Given the description of an element on the screen output the (x, y) to click on. 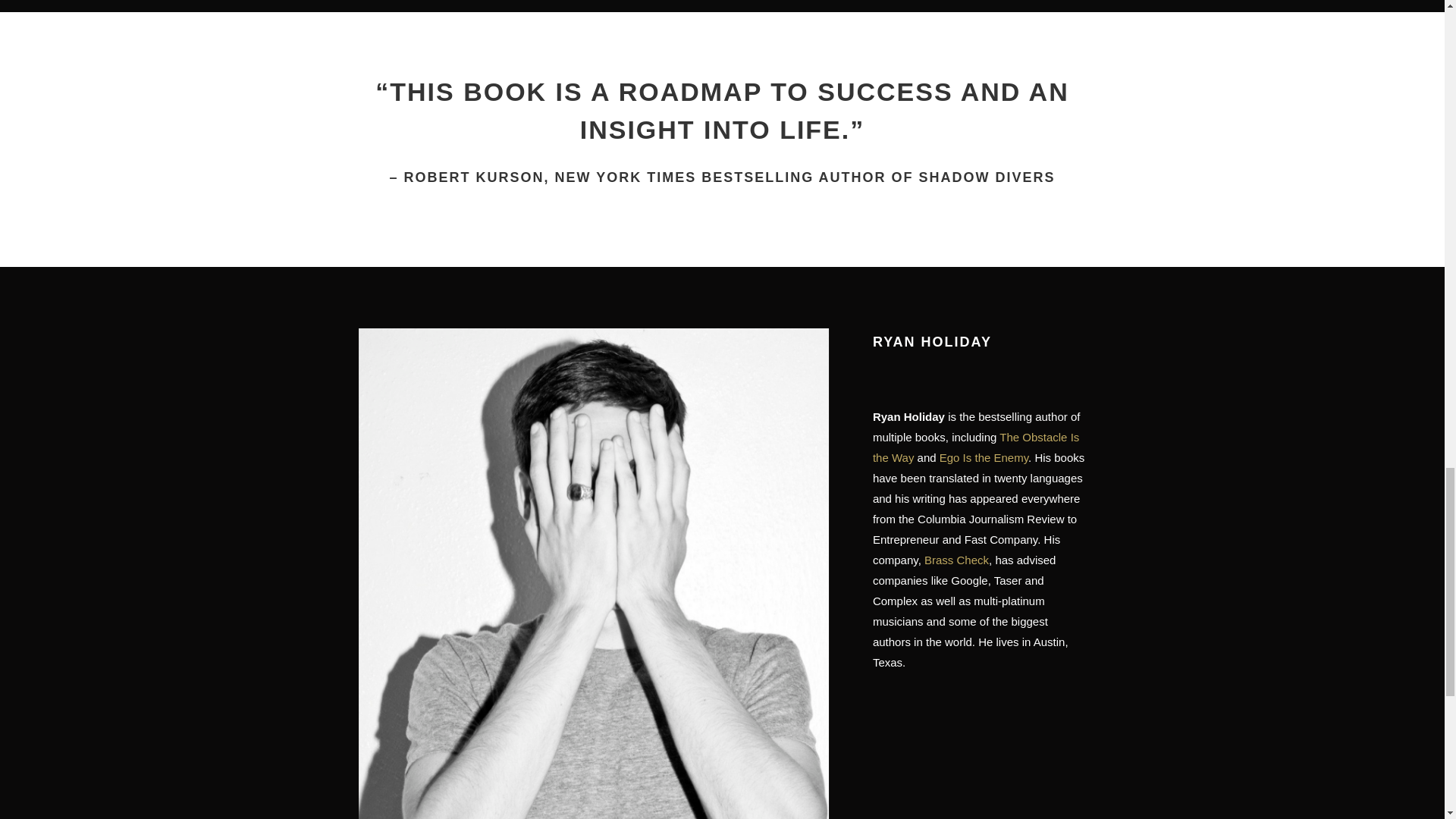
Ego Is the Enemy (987, 457)
Brass Check (960, 559)
The Obstacle Is the Way (980, 447)
